Given the description of an element on the screen output the (x, y) to click on. 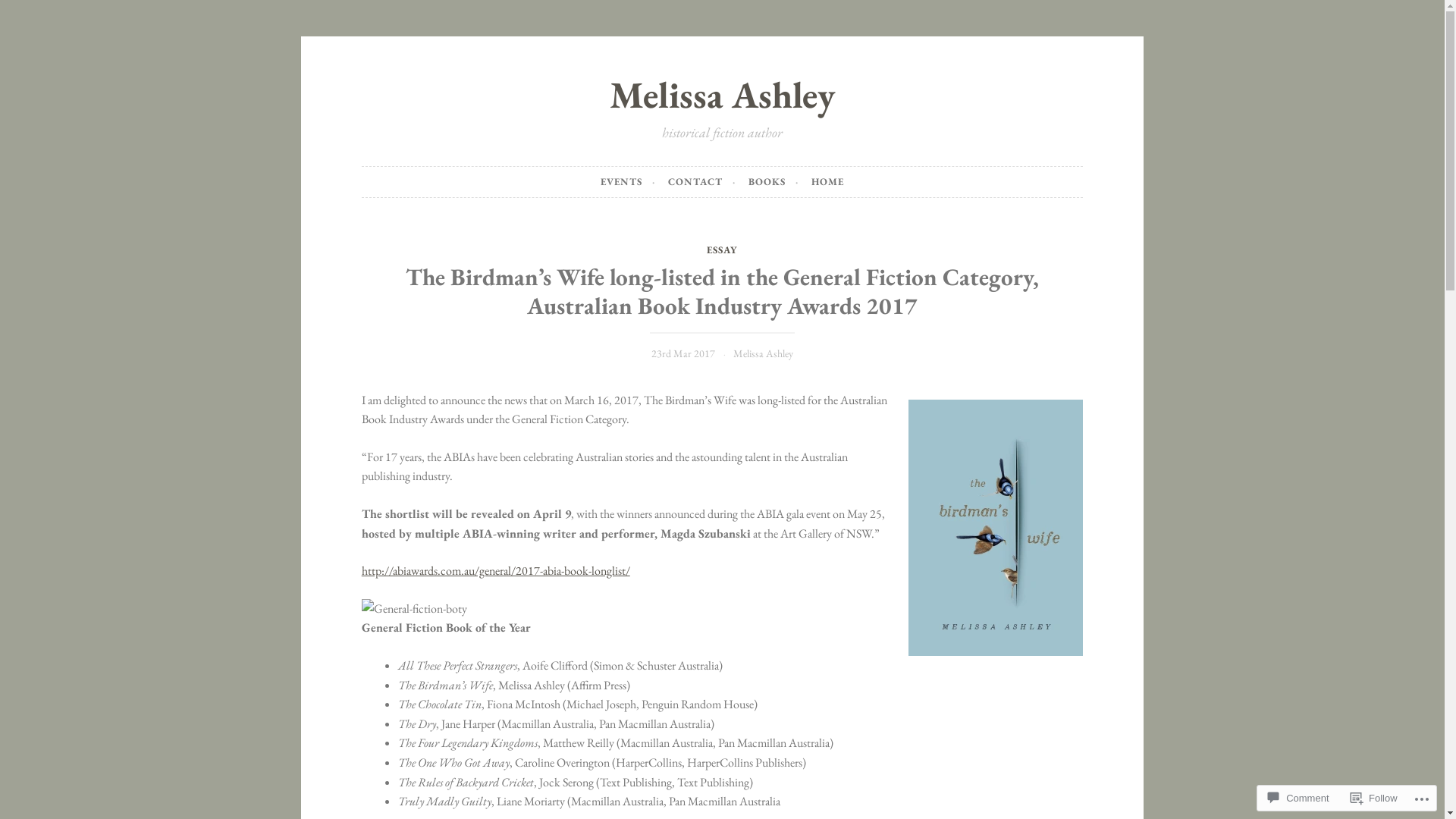
CONTACT Element type: text (701, 181)
ESSAY Element type: text (721, 249)
http://abiawards.com.au/general/2017-abia-book-longlist/ Element type: text (495, 570)
EVENTS Element type: text (627, 181)
HOME Element type: text (827, 181)
Melissa Ashley Element type: text (721, 94)
Follow Element type: text (1373, 797)
BOOKS Element type: text (773, 181)
Comment Element type: text (1297, 797)
Melissa Ashley Element type: text (763, 353)
23rd Mar 2017 Element type: text (683, 353)
